Given the description of an element on the screen output the (x, y) to click on. 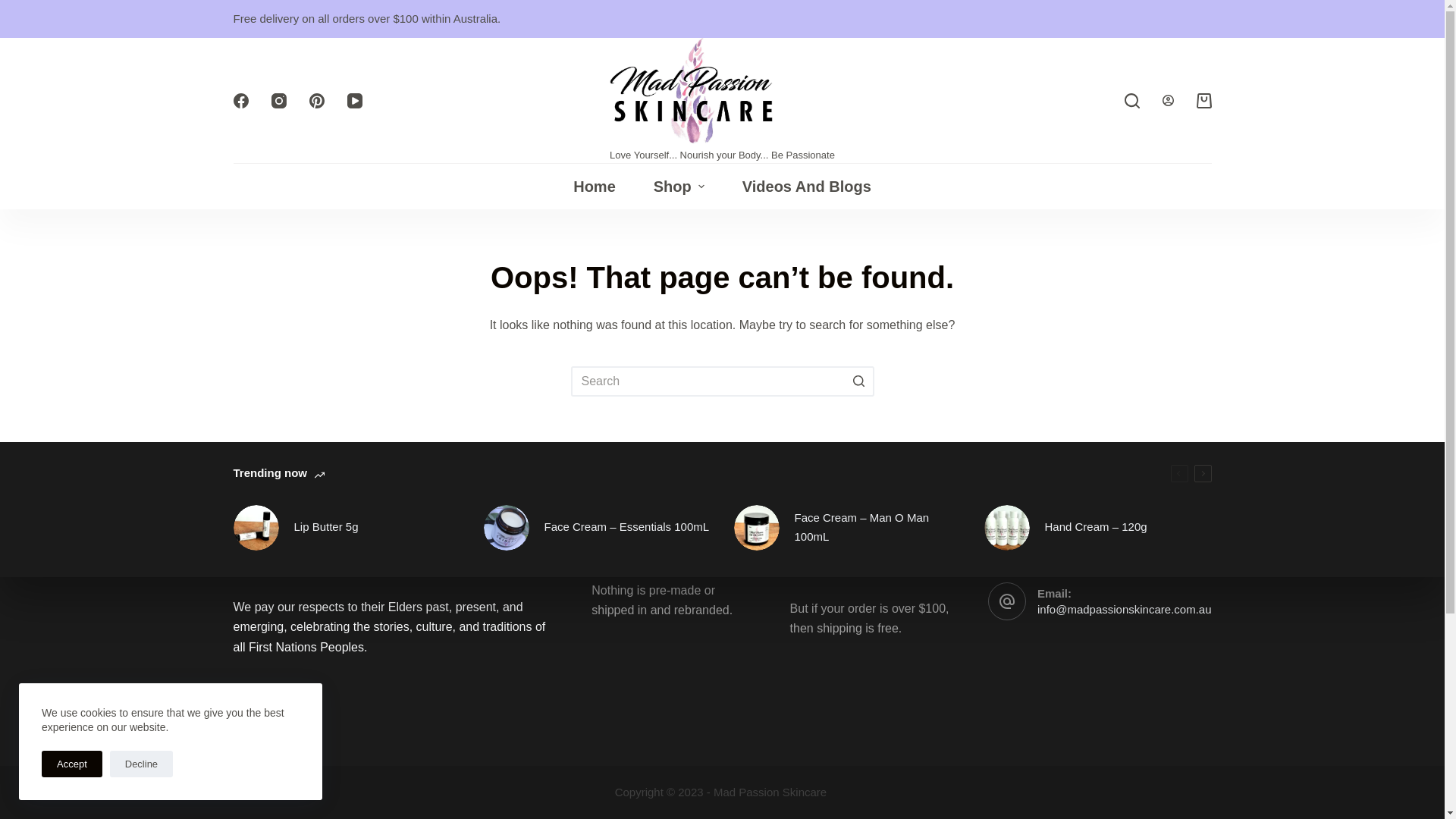
Lip Butter 5g Element type: text (347, 527)
About us Element type: text (615, 450)
Videos And Blogs Element type: text (806, 186)
Search for... Element type: hover (721, 381)
FAQ Element type: text (603, 470)
Home Element type: text (594, 186)
Terms & Conditions Element type: text (842, 470)
Decline Element type: text (140, 763)
Accept Element type: text (71, 763)
Privacy Policy Element type: text (828, 450)
info@madpassionskincare.com.au Element type: text (1124, 608)
Shop Element type: text (678, 186)
Skip to content Element type: text (15, 7)
